Given the description of an element on the screen output the (x, y) to click on. 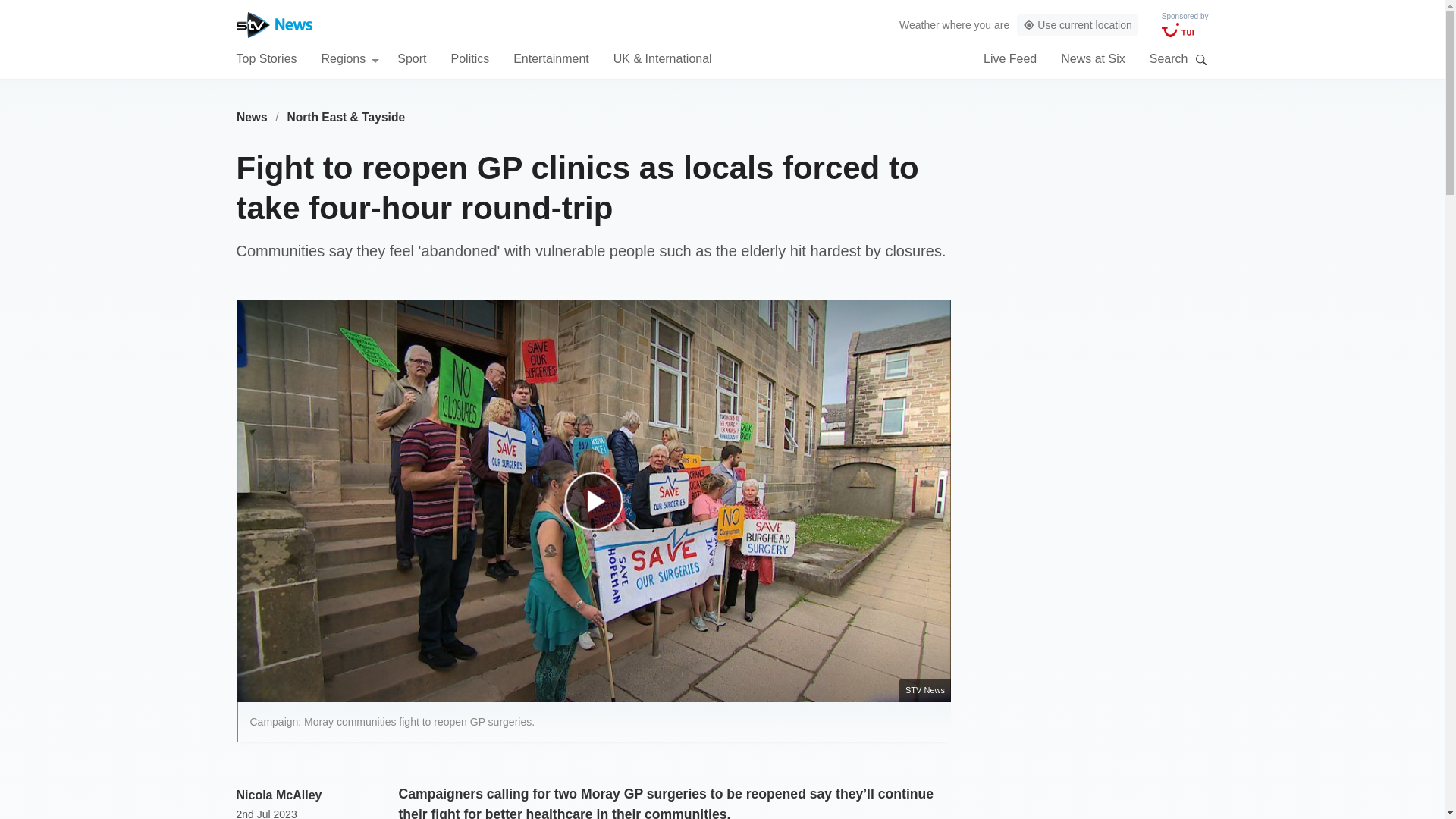
Live Feed (1010, 57)
Entertainment (551, 57)
Use current location (1077, 25)
Top Stories (266, 57)
Weather (919, 24)
Play Video (600, 507)
Search (1201, 59)
Politics (469, 57)
News at Six (1092, 57)
Regions (350, 57)
